Given the description of an element on the screen output the (x, y) to click on. 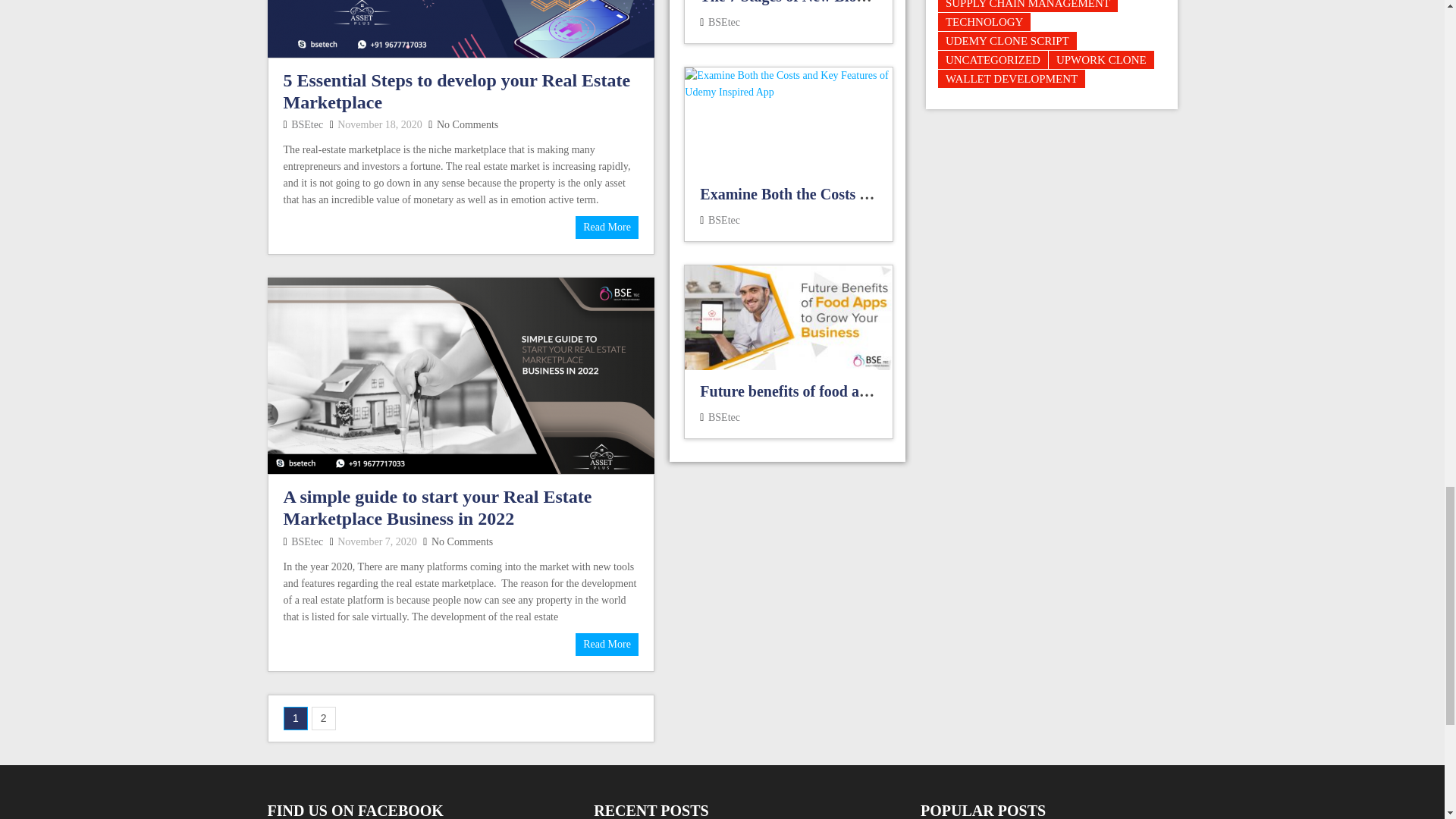
5 Essential Steps to develop your Real Estate Marketplace (459, 28)
